Given the description of an element on the screen output the (x, y) to click on. 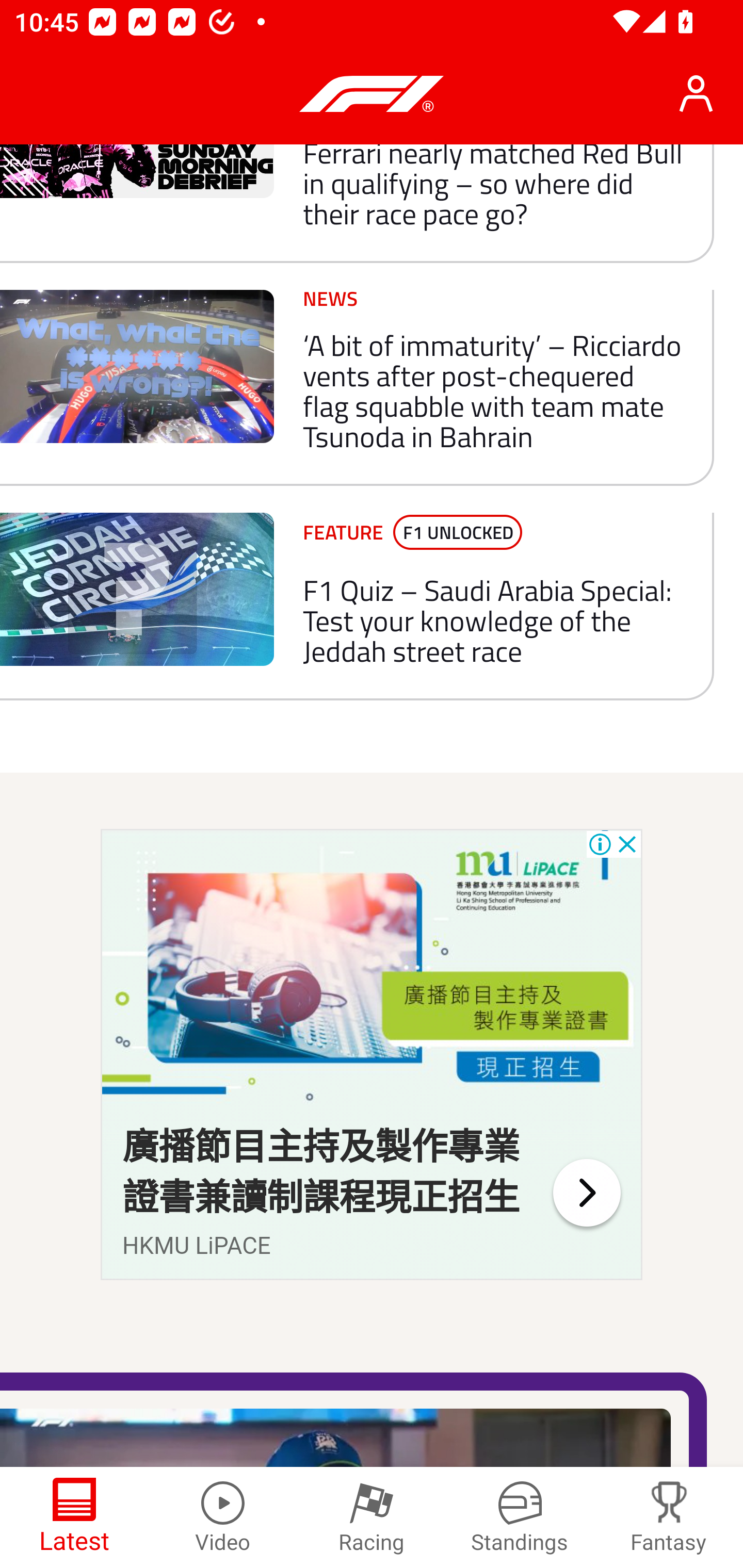
%3Flce%3DGDN_B2023_01 (371, 974)
廣播節目主持及製作專業 證書兼讀制課程現正招生 廣播節目主持及製作專業 證書兼讀制課程現正招生 (321, 1171)
%3Flce%3DGDN_B2023_01 (586, 1192)
HKMU LiPACE (196, 1245)
Video (222, 1517)
Racing (371, 1517)
Standings (519, 1517)
Fantasy (668, 1517)
